Given the description of an element on the screen output the (x, y) to click on. 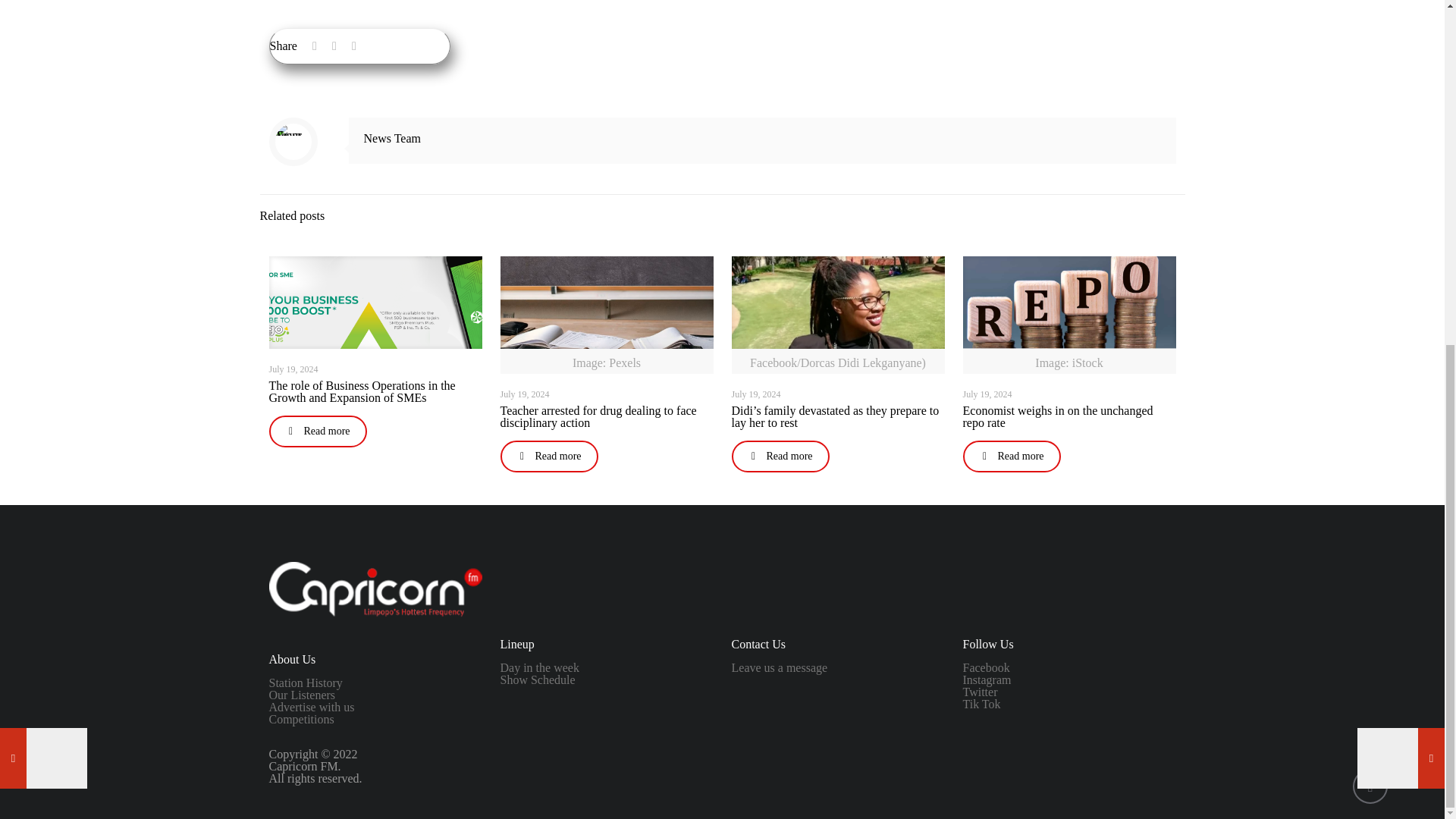
Read more (549, 456)
Read more (316, 431)
Read more (779, 456)
News Team (392, 137)
